Given the description of an element on the screen output the (x, y) to click on. 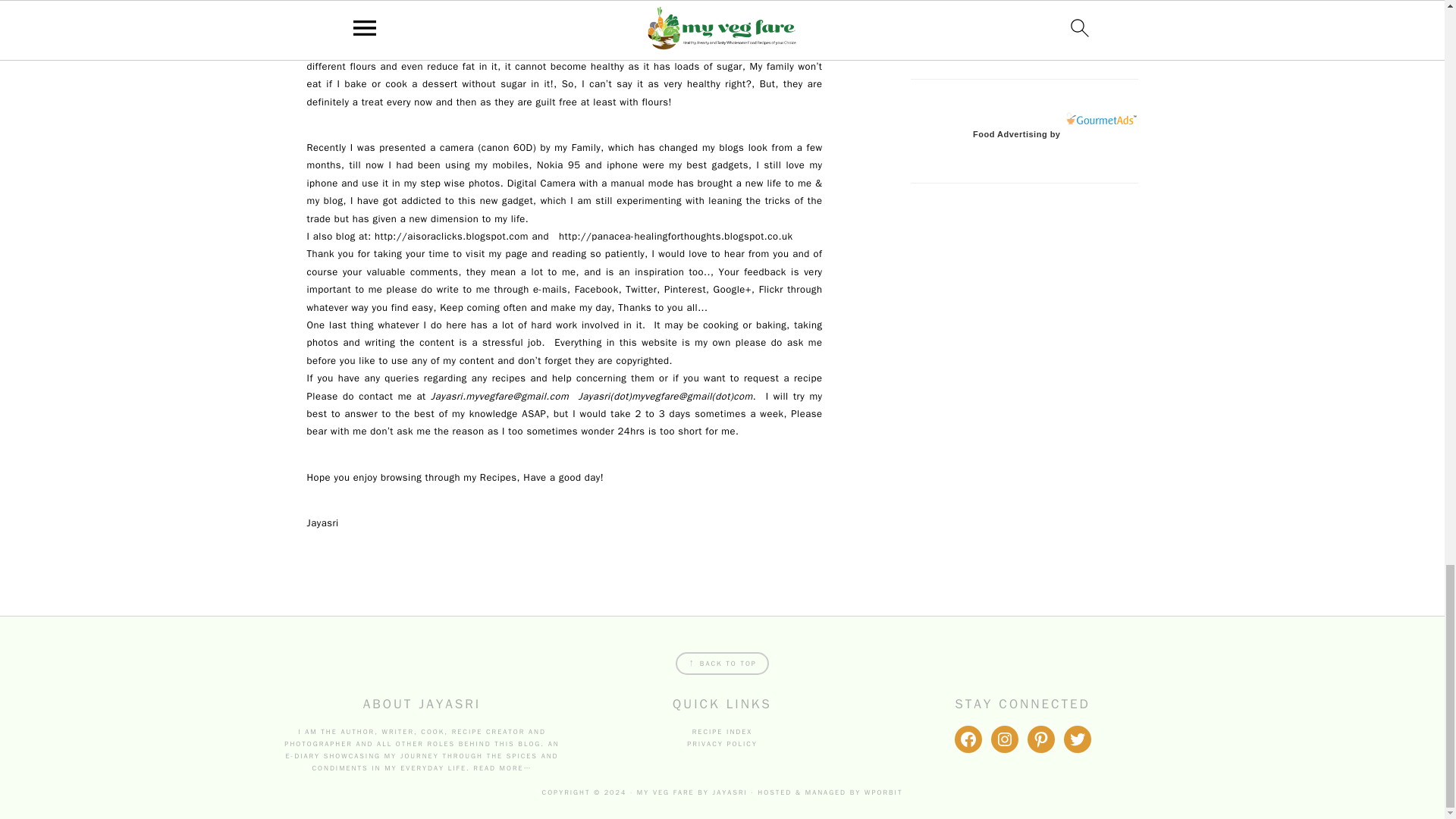
Twitter (641, 288)
 Facebook (593, 288)
Pinterest (683, 288)
Flickr (770, 288)
